Given the description of an element on the screen output the (x, y) to click on. 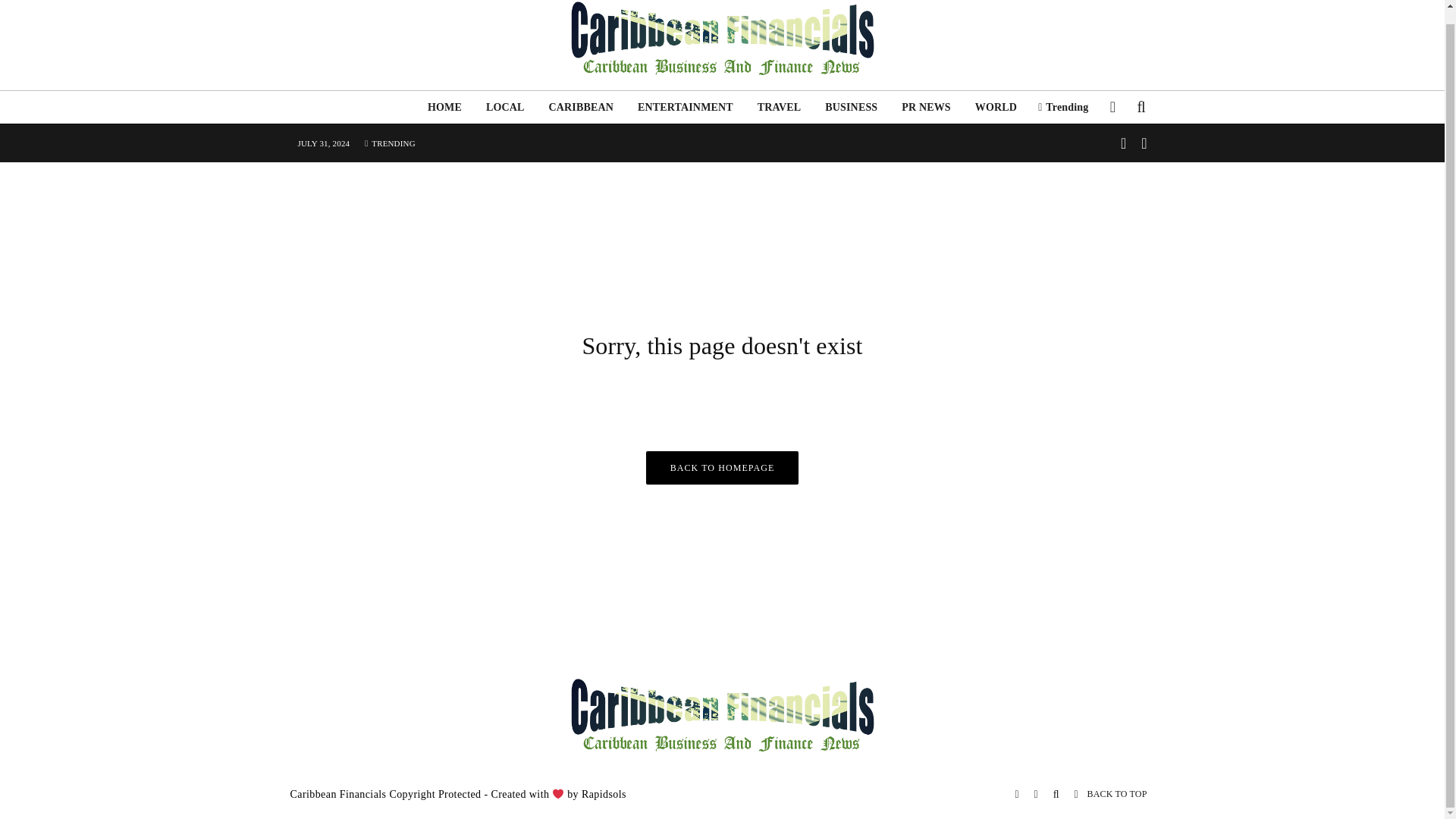
TRAVEL (779, 106)
HOME (444, 106)
ENTERTAINMENT (685, 106)
CARIBBEAN (581, 106)
LOCAL (505, 106)
